Given the description of an element on the screen output the (x, y) to click on. 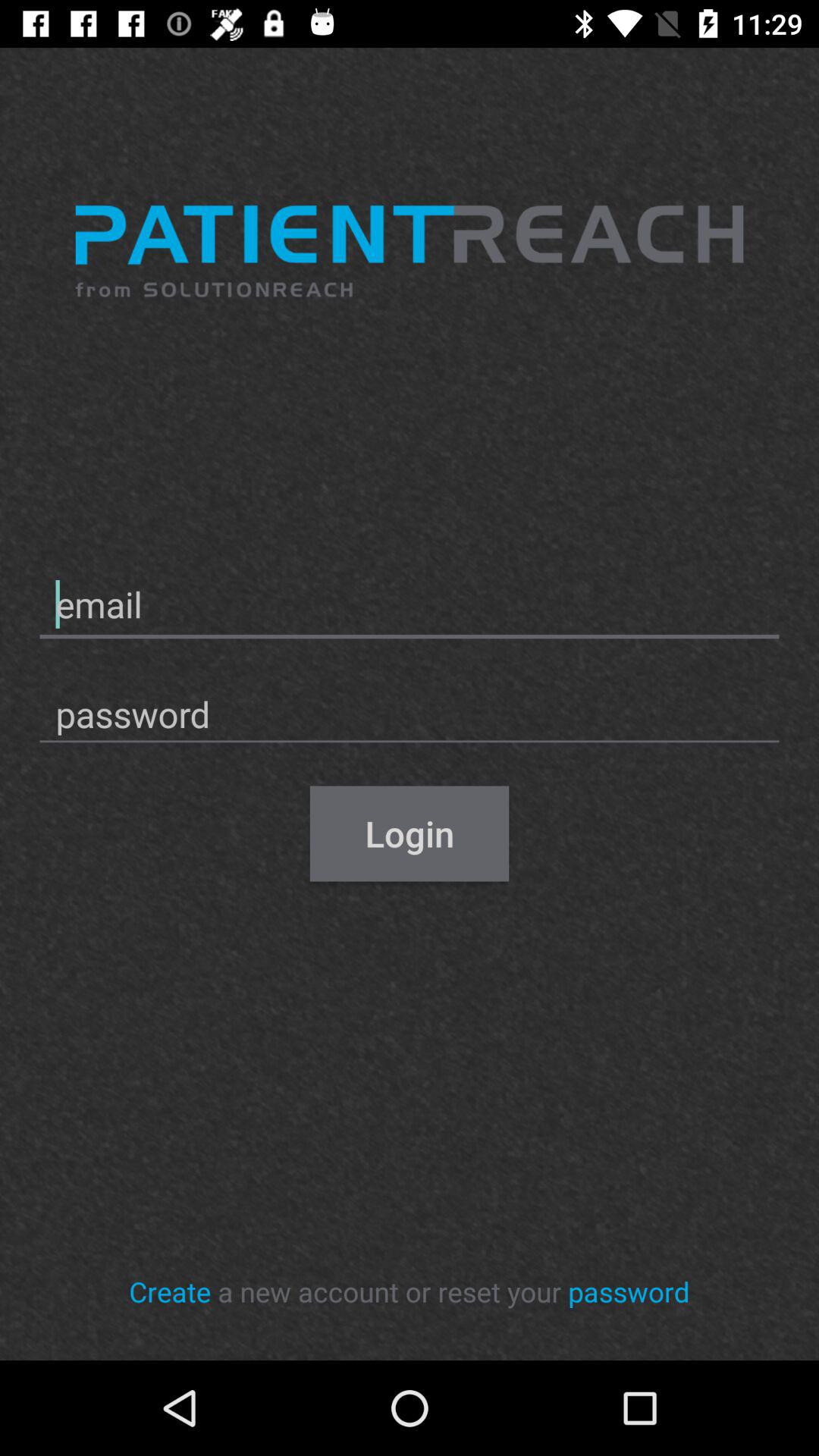
open the icon to the right of the a new account icon (628, 1291)
